Given the description of an element on the screen output the (x, y) to click on. 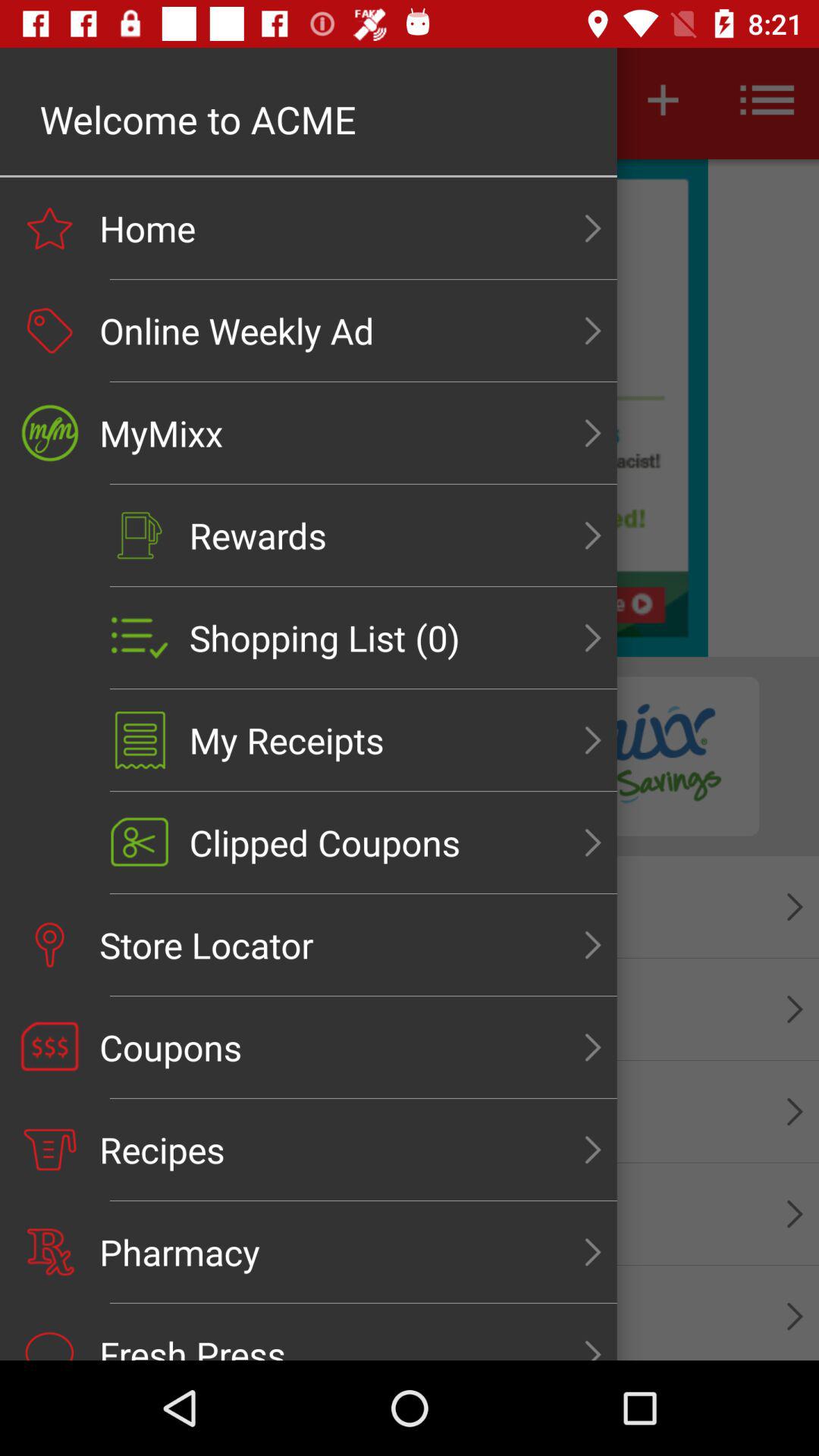
tap the clipped coupons icon (139, 842)
click on the coupons icon (49, 1047)
click on the fifth right scroll (593, 638)
select the seventh right scroll (593, 842)
click the recipes icon (49, 1149)
click the icon of shopping list 0 (139, 638)
